Given the description of an element on the screen output the (x, y) to click on. 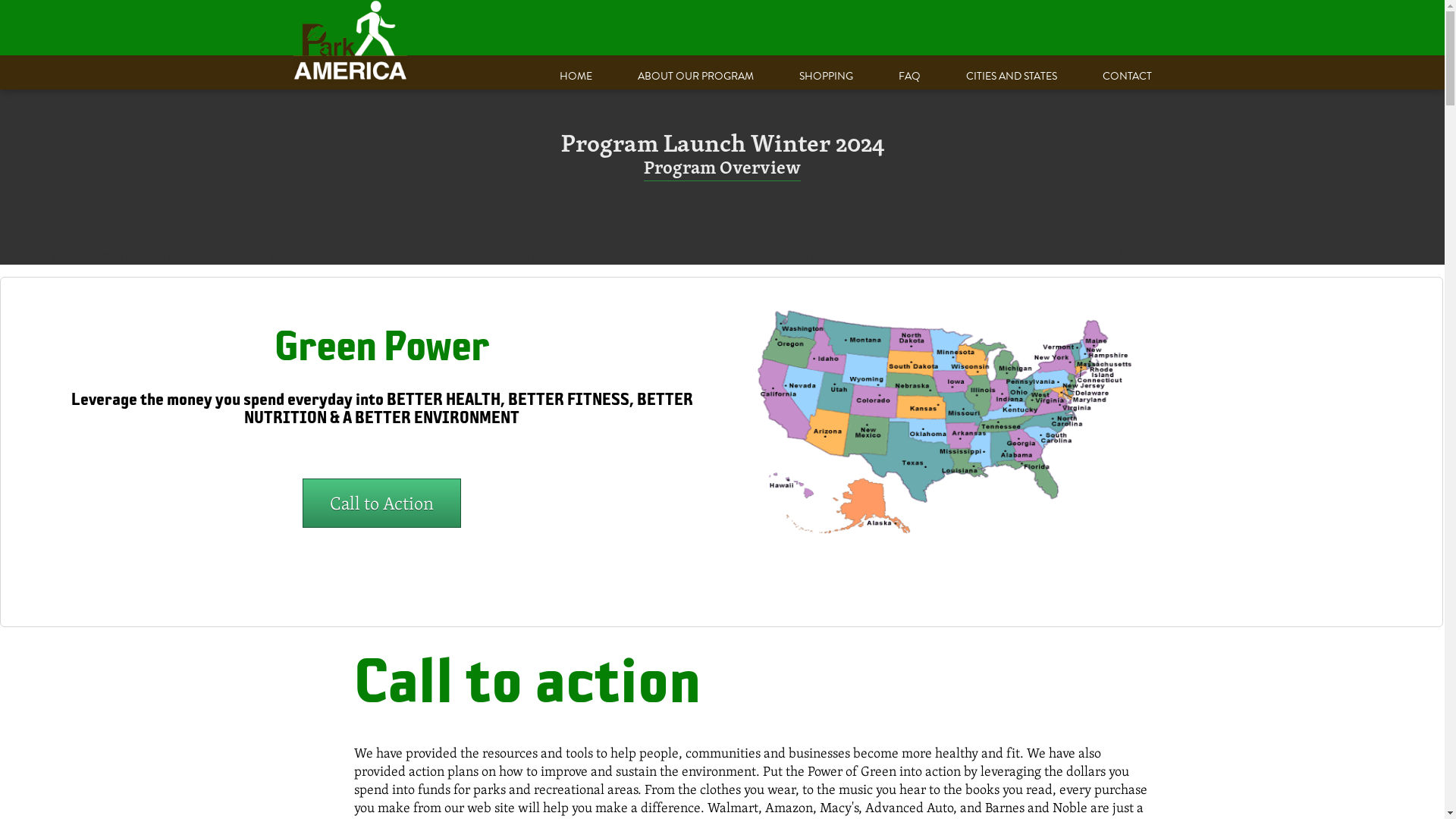
Program Overview (721, 169)
ABOUT OUR PROGRAM (694, 75)
CONTACT (1126, 75)
FAQ (909, 75)
CONTACT (1126, 75)
CITIES AND STATES (1011, 75)
HOME (575, 75)
SHOPPING (826, 75)
FAQ (909, 75)
CITIES AND STATES (1011, 75)
